Given the description of an element on the screen output the (x, y) to click on. 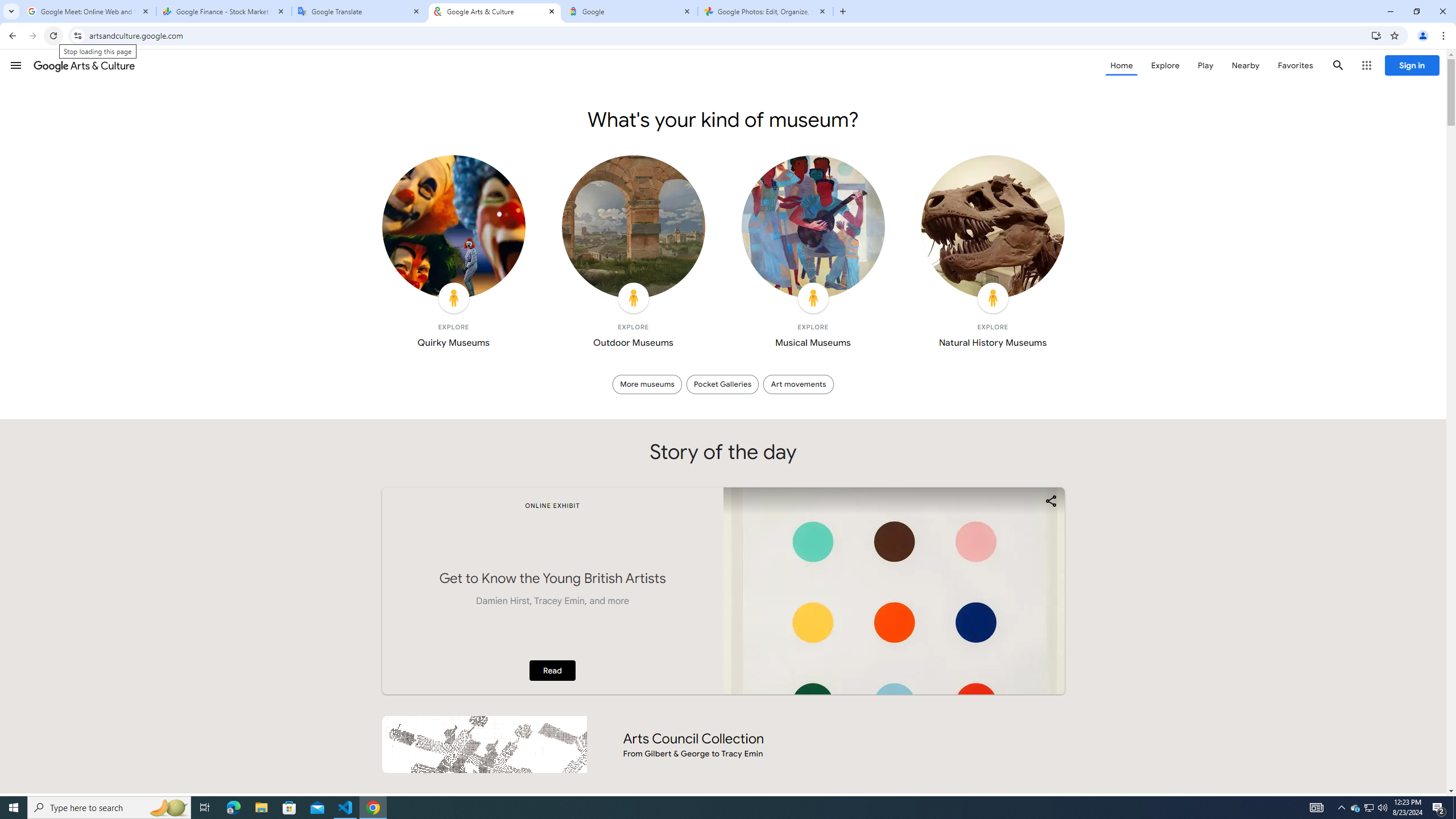
EXPLORE Natural History Museums (992, 254)
Pocket Galleries (721, 384)
Search (1338, 65)
Play (1205, 65)
Arts Council Collection From Gilbert & George to Tracy Emin (722, 744)
More museums (647, 384)
EXPLORE Musical Museums (813, 254)
